Given the description of an element on the screen output the (x, y) to click on. 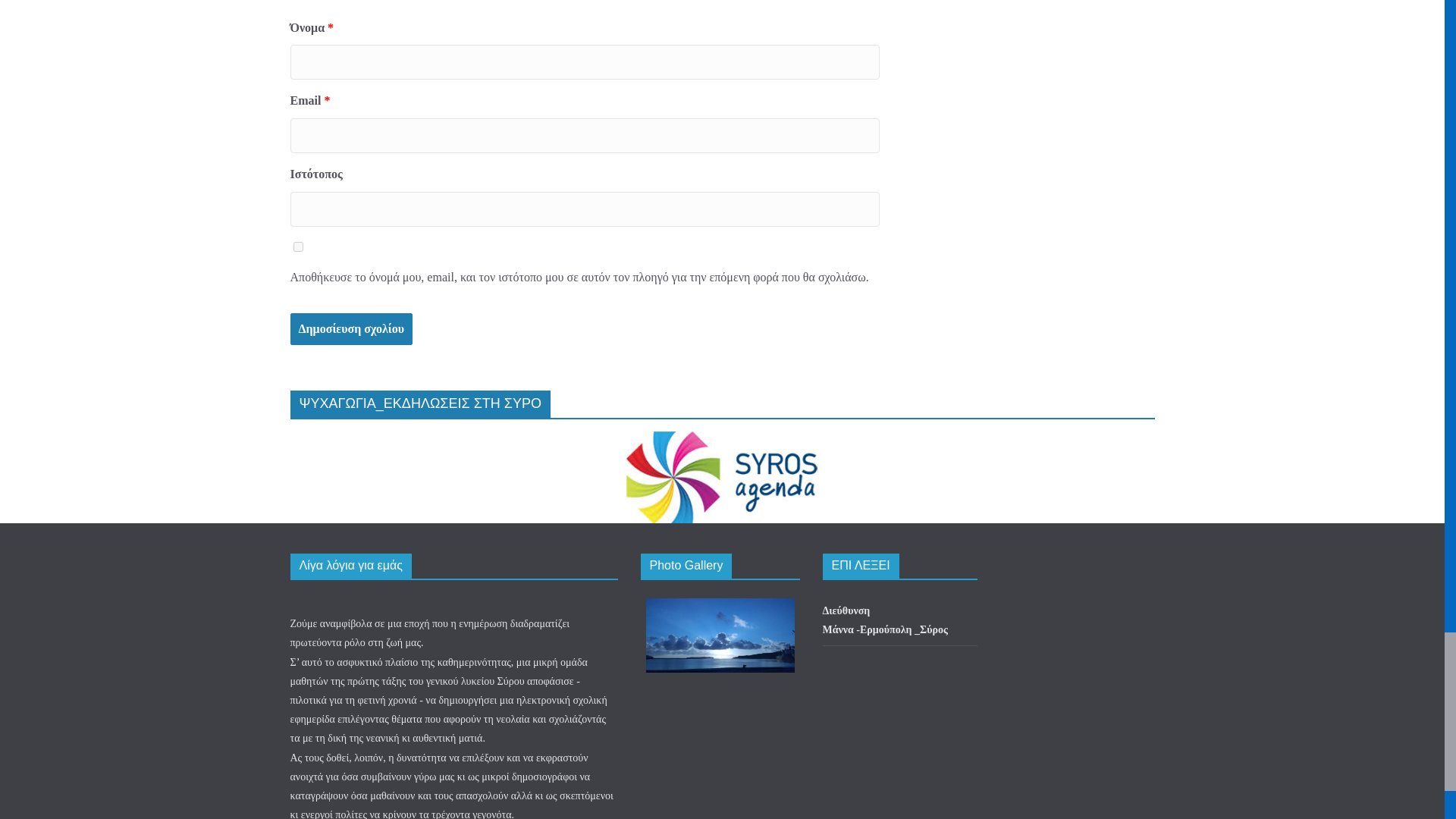
yes (297, 246)
